Given the description of an element on the screen output the (x, y) to click on. 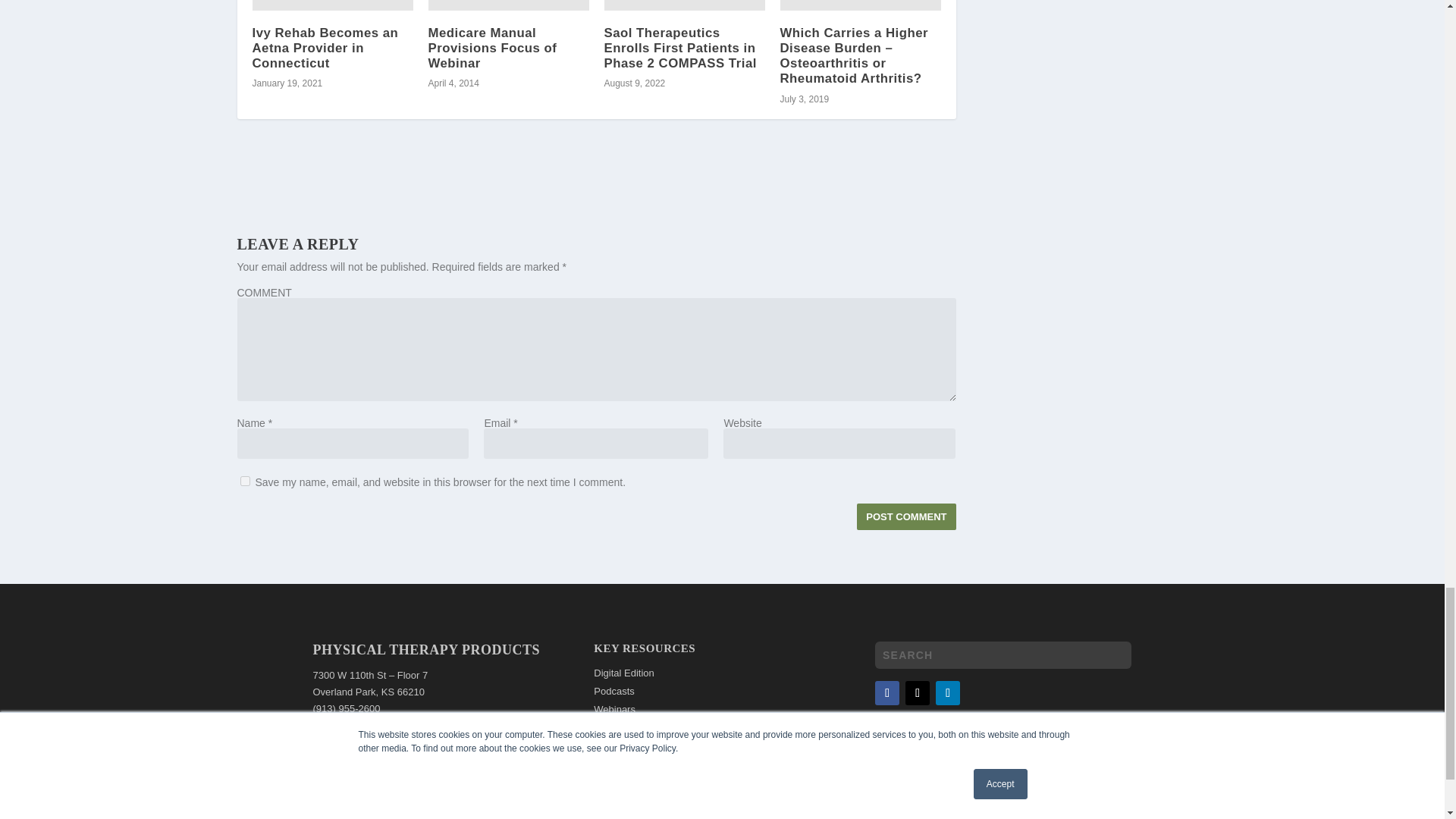
Follow on LinkedIn (947, 692)
Follow on X (917, 692)
Medicare Manual Provisions Focus of Webinar (508, 5)
Follow on Facebook (887, 692)
Post Comment (906, 516)
Ivy Rehab Becomes an Aetna Provider in Connecticut (331, 5)
yes (244, 480)
